Given the description of an element on the screen output the (x, y) to click on. 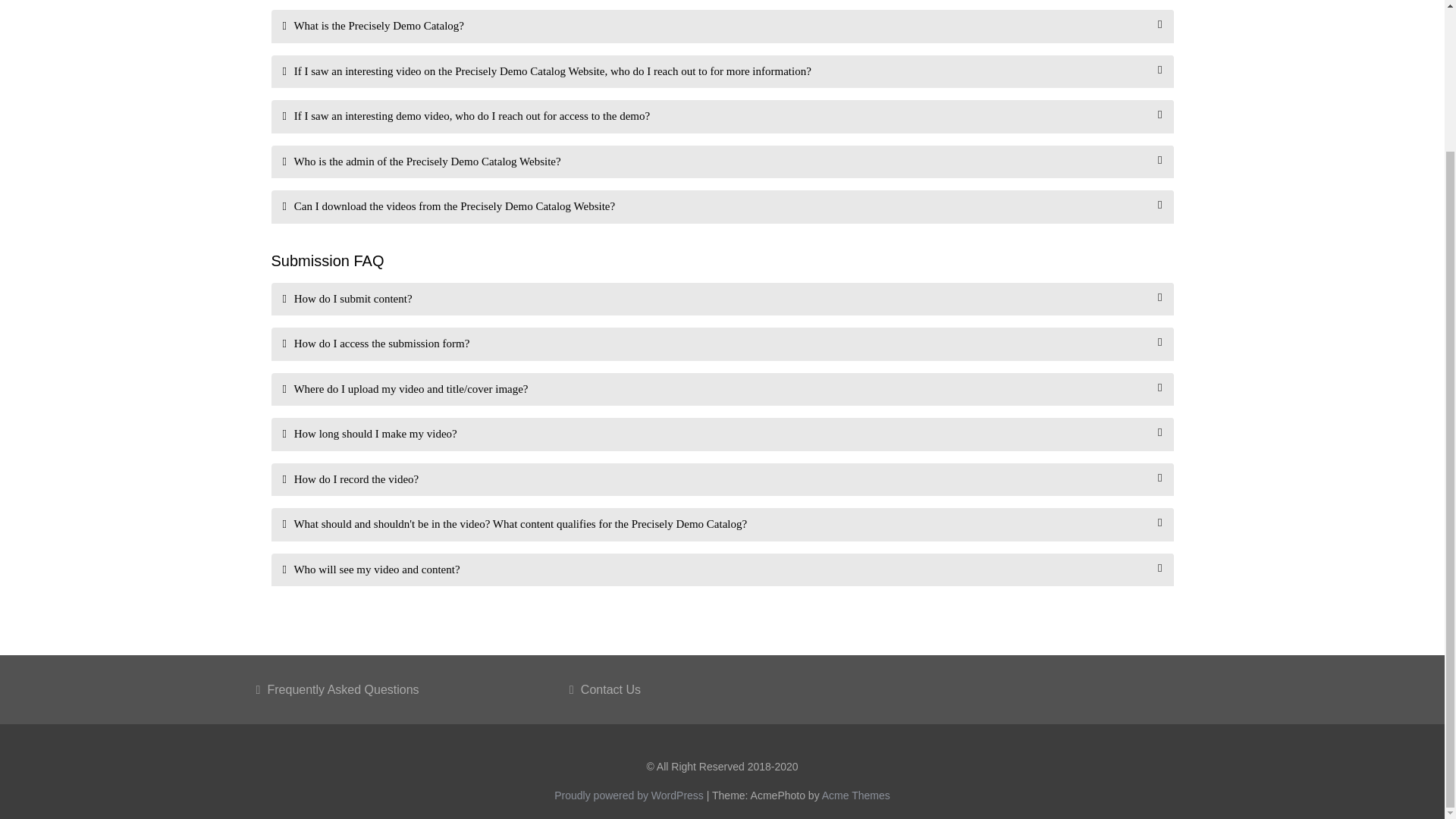
Who is the admin of the Precisely Demo Catalog Website? (721, 162)
What is the Precisely Demo Catalog? (721, 26)
